Given the description of an element on the screen output the (x, y) to click on. 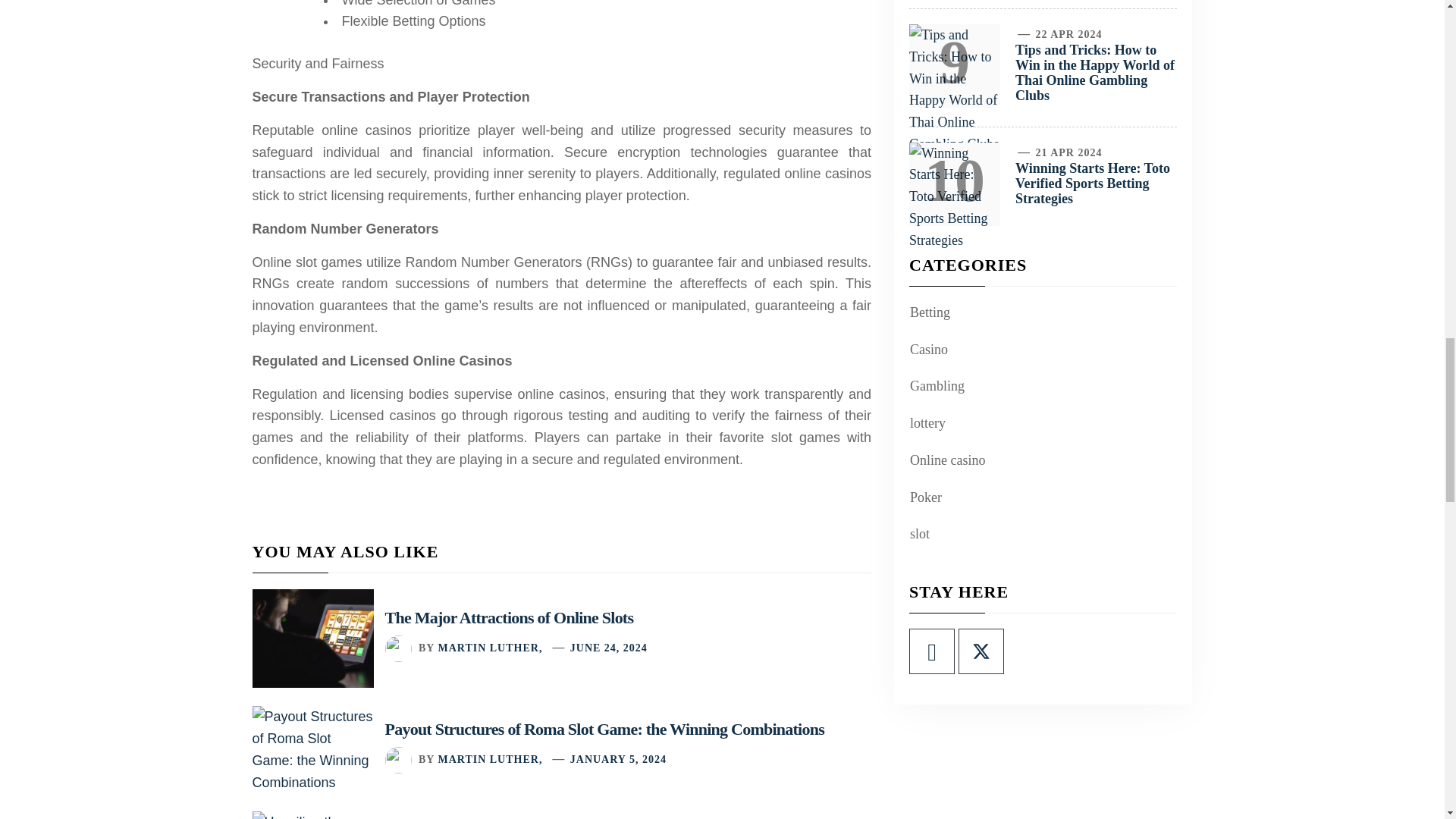
MARTIN LUTHER, (489, 758)
The Major Attractions of Online Slots (509, 617)
MARTIN LUTHER, (489, 647)
JUNE 24, 2024 (608, 647)
JANUARY 5, 2024 (618, 758)
